Given the description of an element on the screen output the (x, y) to click on. 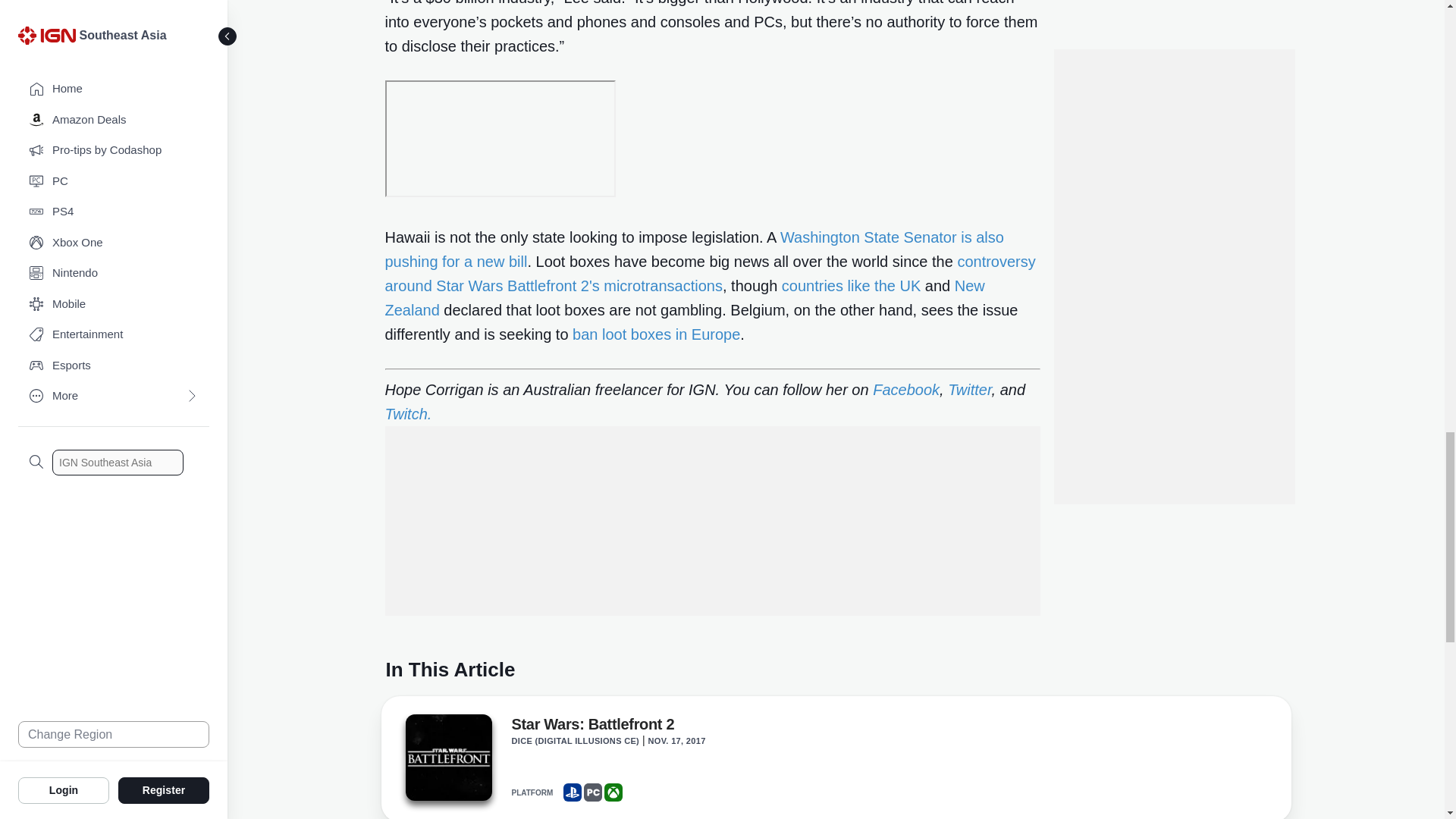
PC (592, 791)
XBOXONE (613, 791)
Star Wars: Battlefront 2 (448, 757)
PS4 (571, 791)
Star Wars: Battlefront 2 (592, 726)
Star Wars: Battlefront 2 (448, 762)
